Given the description of an element on the screen output the (x, y) to click on. 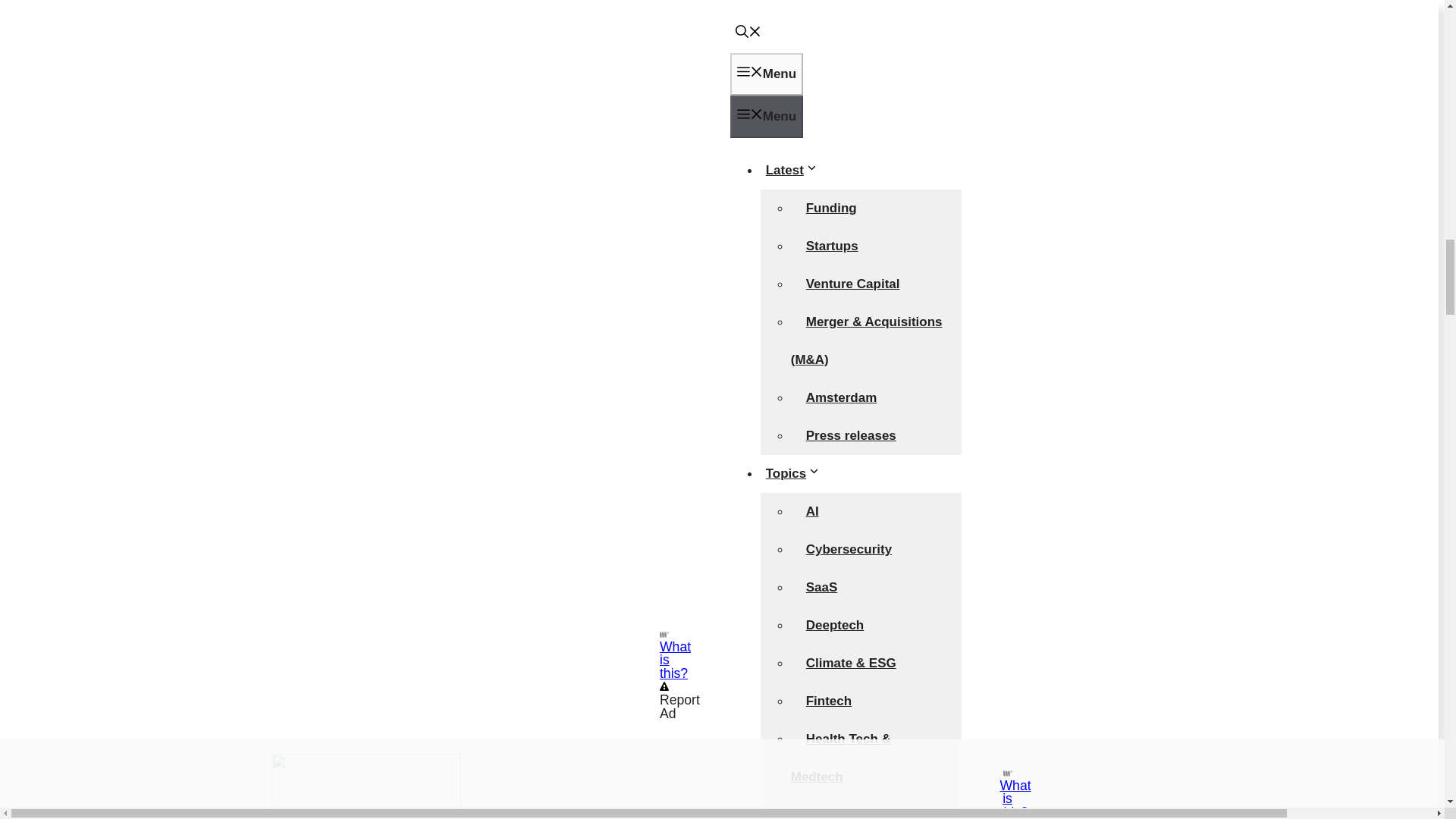
3rd party ad content (378, 319)
3rd party ad content (839, 302)
